Given the description of an element on the screen output the (x, y) to click on. 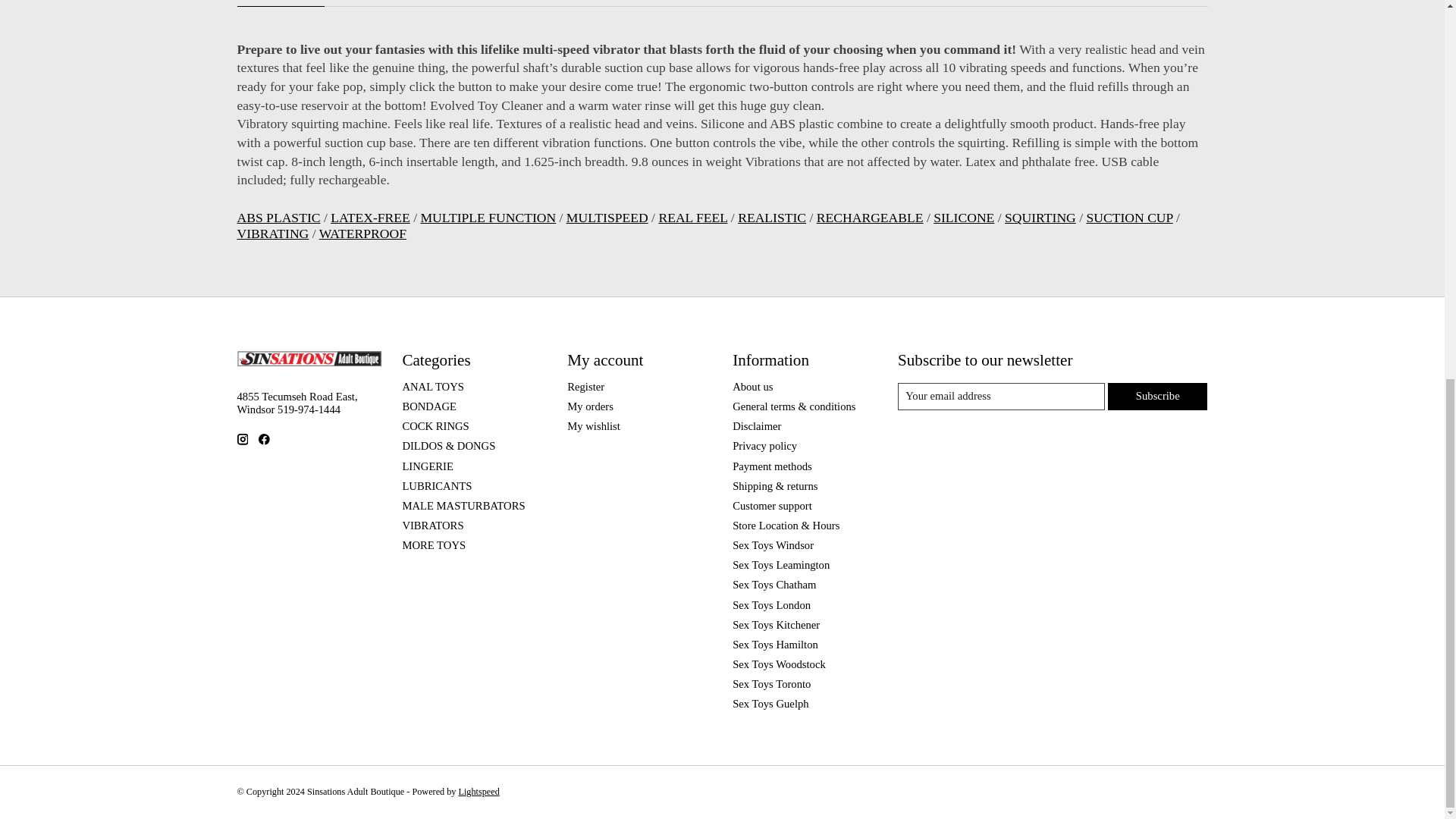
MULTIPLE FUNCTION (488, 217)
VIBRATING (271, 233)
SUCTION CUP (1129, 217)
LATEX-FREE (370, 217)
RECHARGEABLE (869, 217)
MULTISPEED (606, 217)
Register (585, 386)
SQUIRTING (1039, 217)
SILICONE (963, 217)
REAL FEEL (692, 217)
ABS PLASTIC (277, 217)
WATERPROOF (362, 233)
REALISTIC (772, 217)
My wishlist (593, 426)
My orders (589, 406)
